Given the description of an element on the screen output the (x, y) to click on. 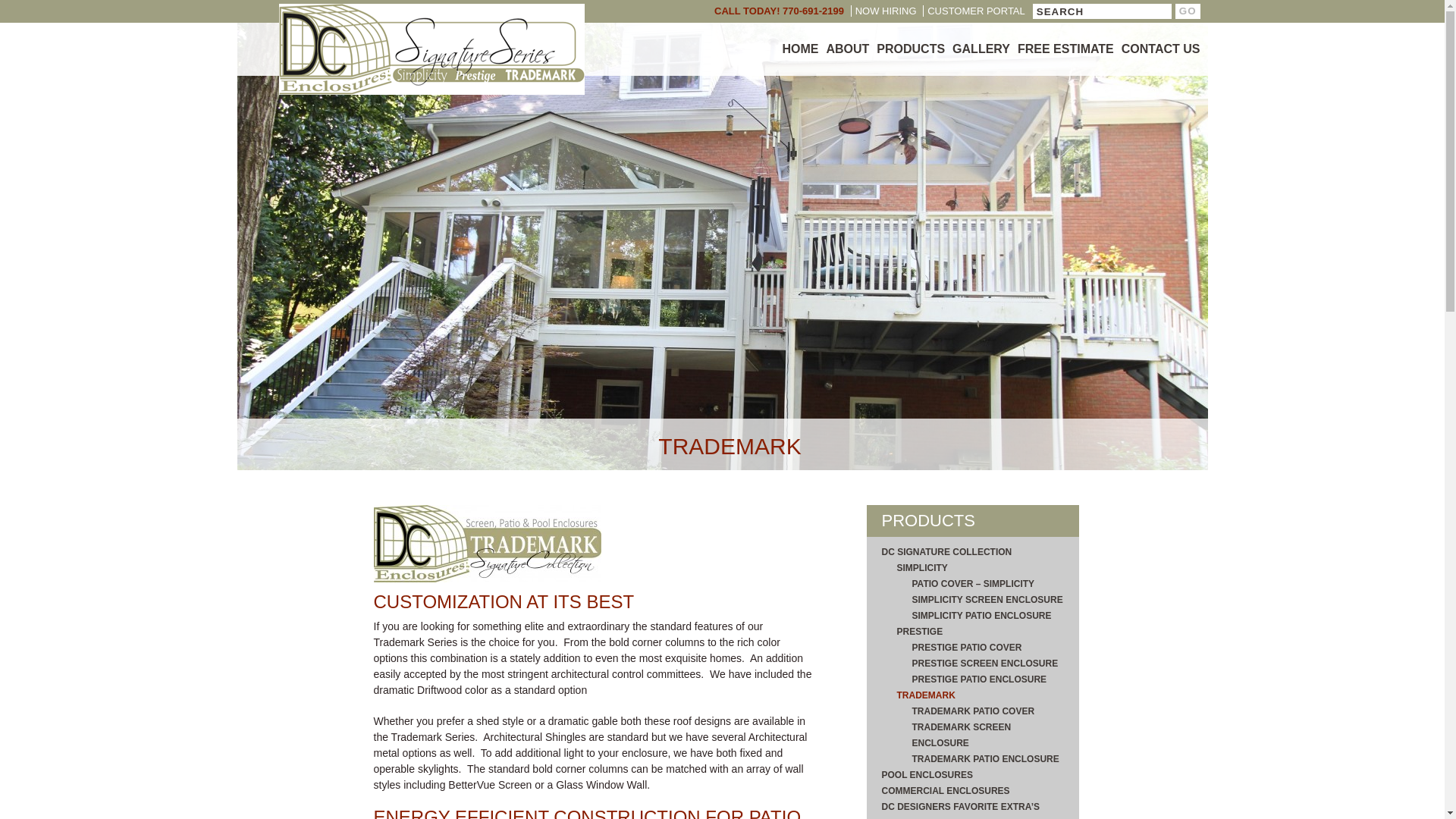
DC Enclosures (431, 49)
GO (1186, 11)
ABOUT (847, 48)
Search for: (1102, 11)
NOW HIRING (883, 10)
PRODUCTS (910, 48)
770-514-7019 (410, 29)
GO (1186, 11)
GALLERY (981, 48)
GO (1186, 11)
DC SIGNATURE COLLECTION (971, 552)
CONTACT US (1160, 48)
HOME (799, 48)
FREE ESTIMATE (1065, 48)
